Given the description of an element on the screen output the (x, y) to click on. 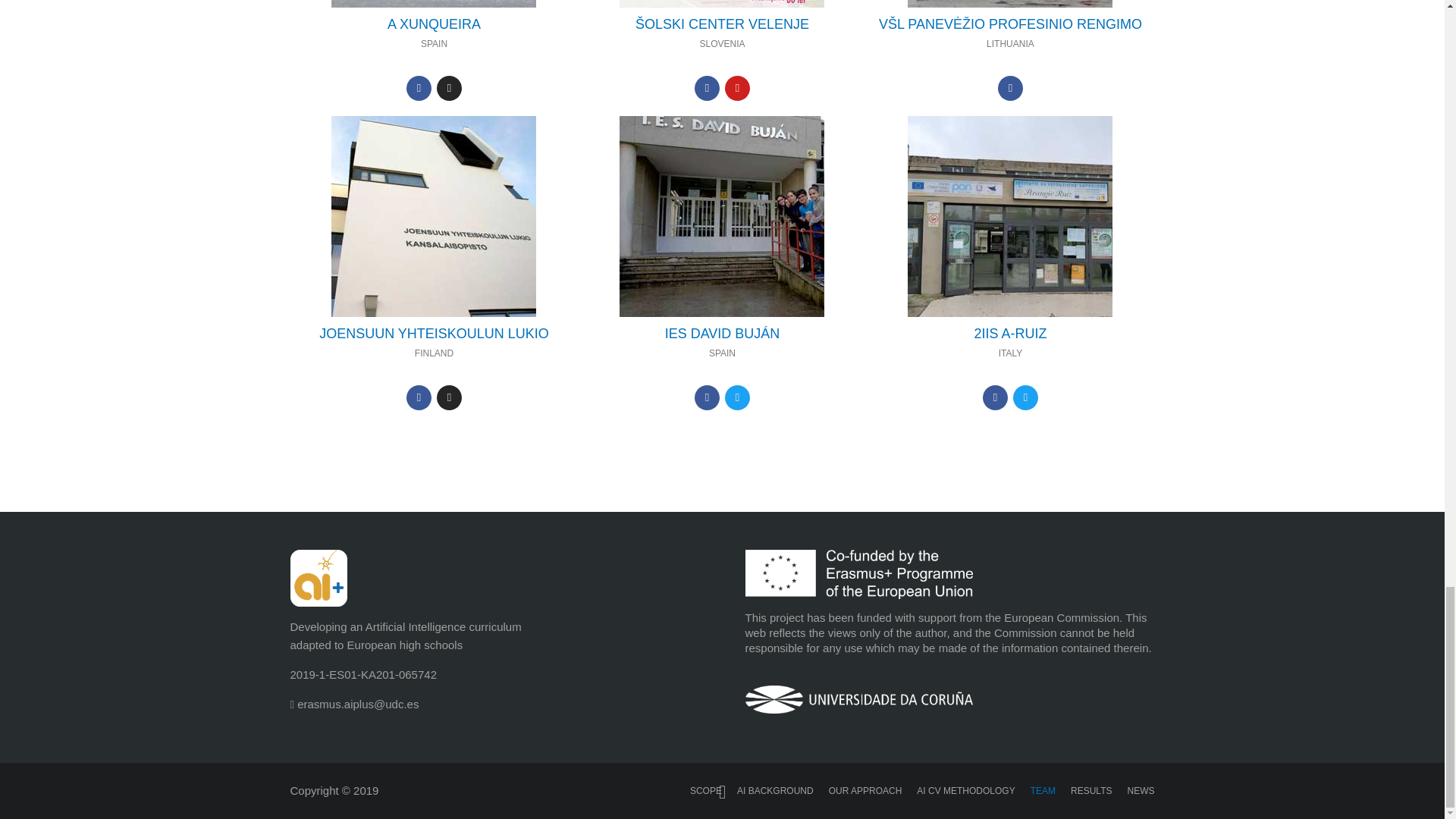
ITALY (1009, 214)
SPAIN (722, 214)
JOENSUUN YHTEISKOULUN LUKIO (433, 333)
Edu (721, 23)
FINDLAND (433, 214)
A XUNQUEIRA (433, 23)
